Given the description of an element on the screen output the (x, y) to click on. 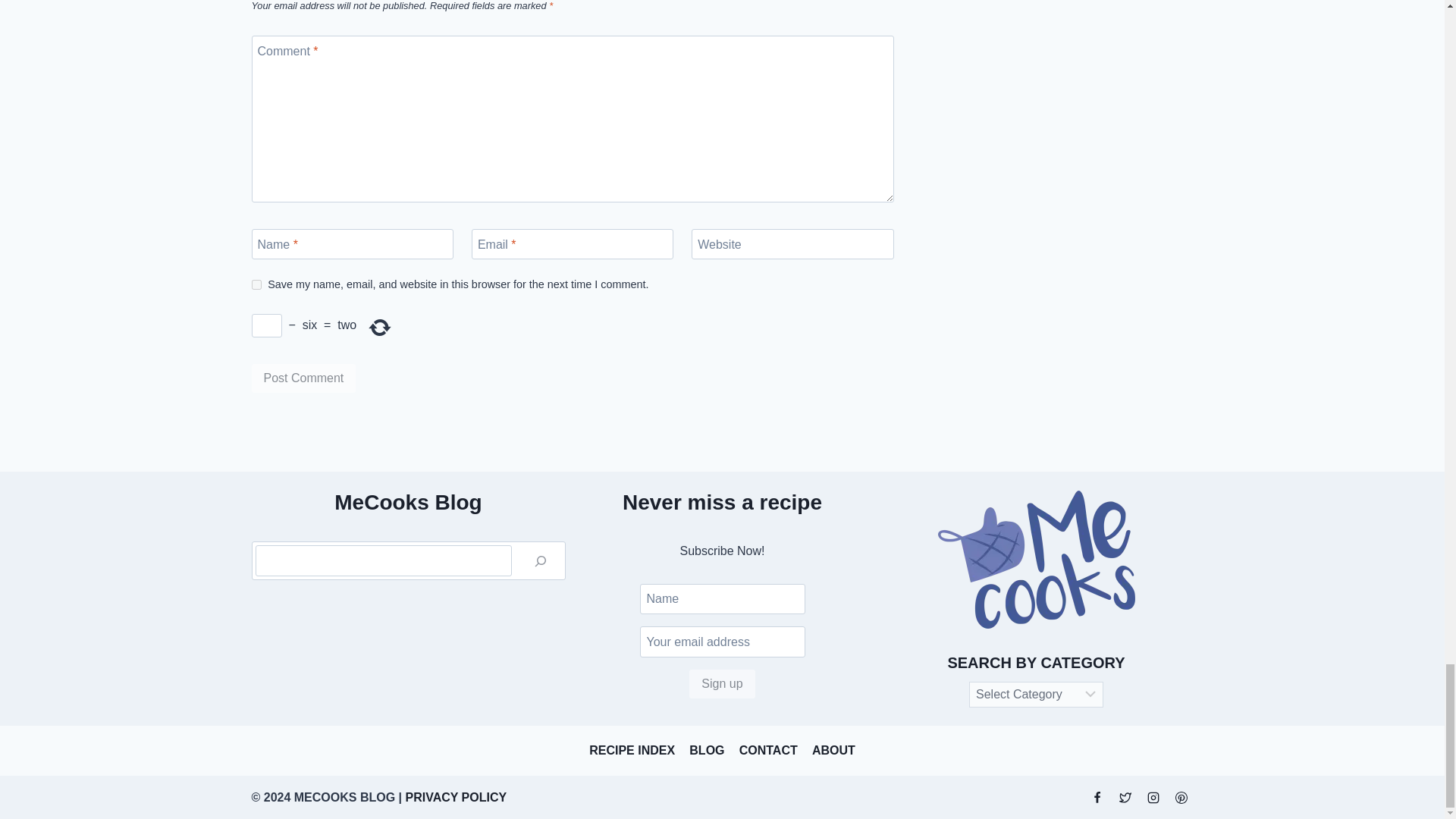
yes (256, 284)
Sign up (721, 683)
Post Comment (303, 378)
